Given the description of an element on the screen output the (x, y) to click on. 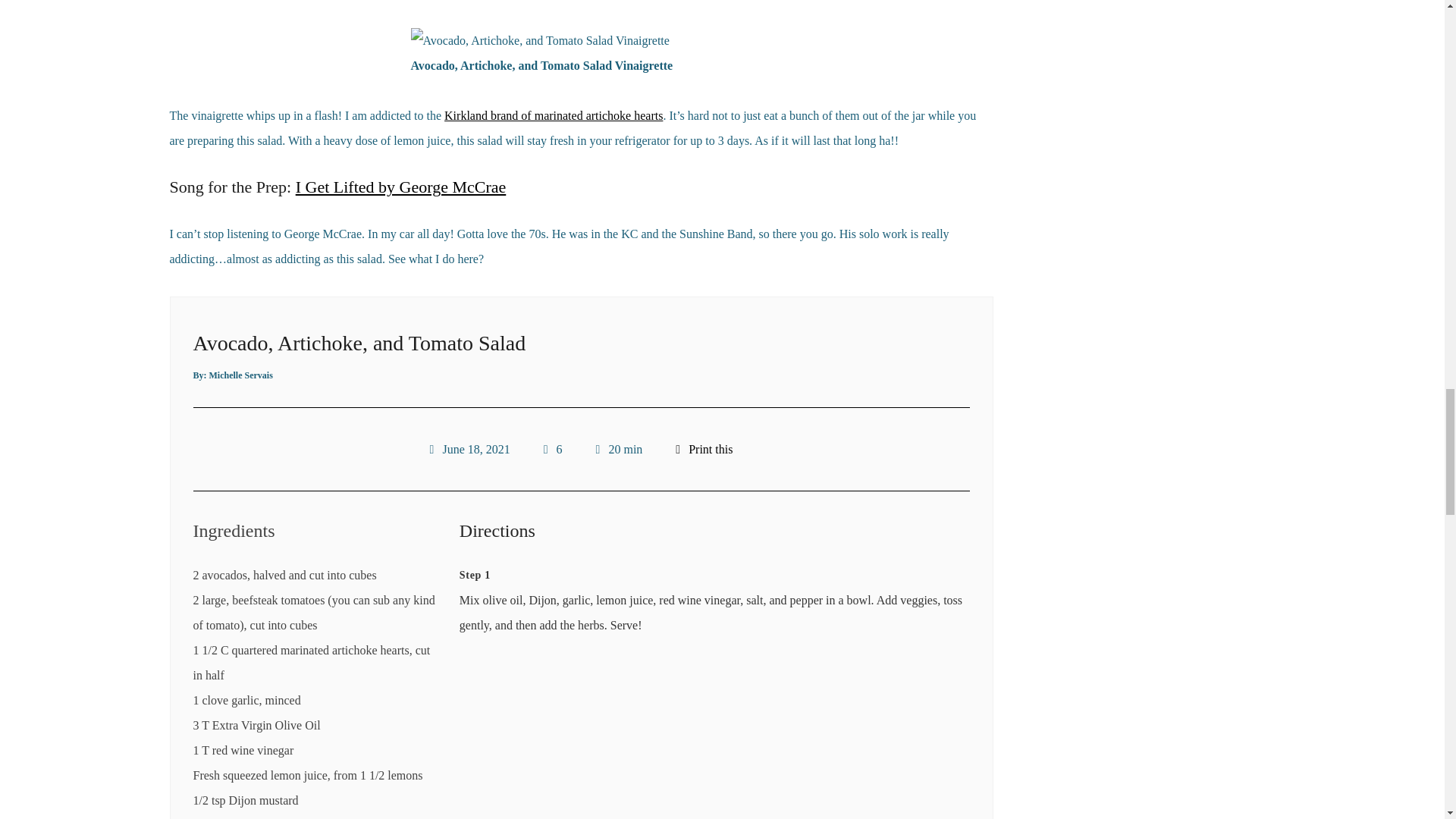
Kirkland brand of marinated artichoke hearts (553, 115)
Print this (703, 449)
I Get Lifted by George McCrae (400, 186)
